Given the description of an element on the screen output the (x, y) to click on. 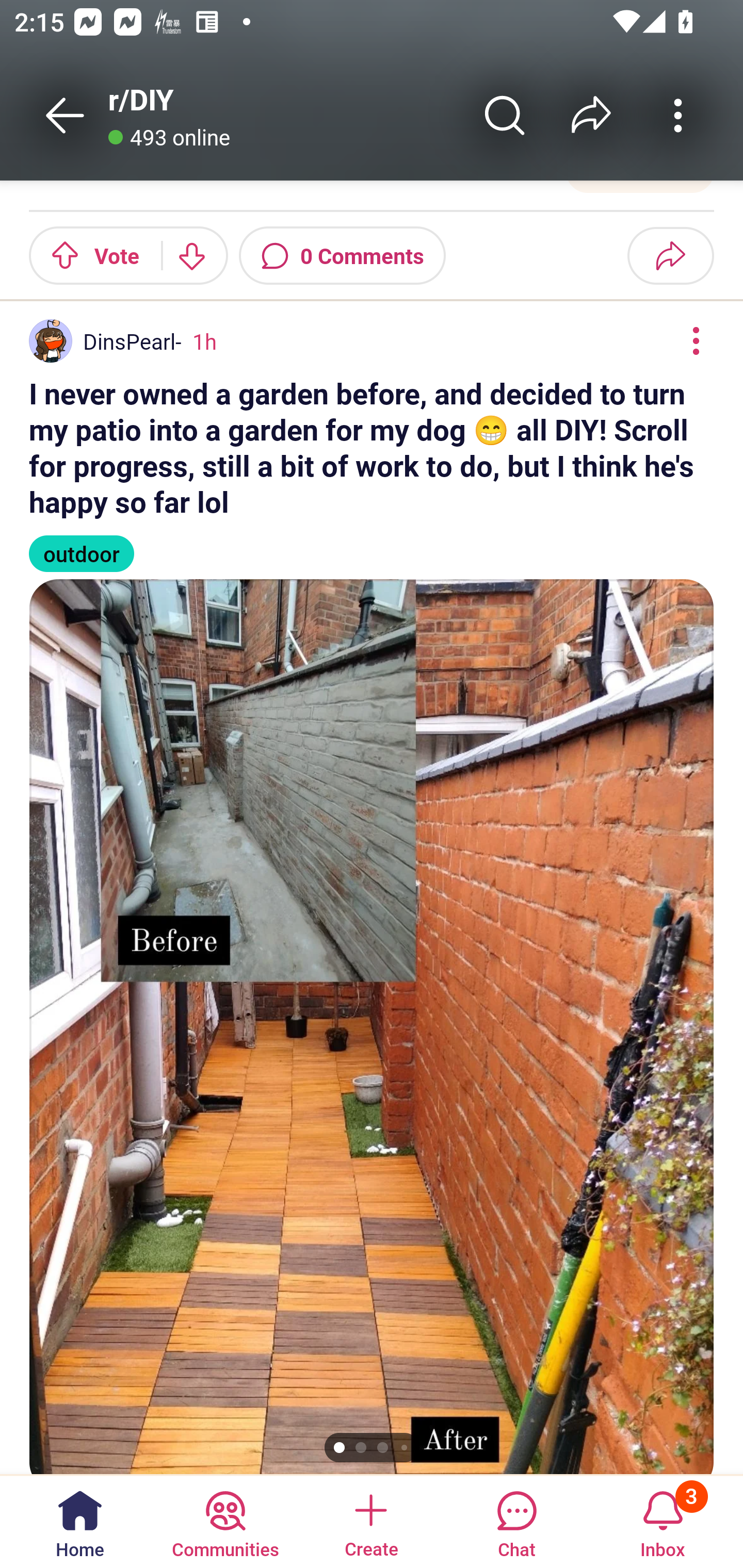
Back (64, 115)
Search r/﻿DIY (504, 115)
Share r/﻿DIY (591, 115)
More community actions (677, 115)
outdoor (81, 544)
Home (80, 1520)
Communities (225, 1520)
Create a post Create (370, 1520)
Chat (516, 1520)
Inbox, has 3 notifications 3 Inbox (662, 1520)
